Given the description of an element on the screen output the (x, y) to click on. 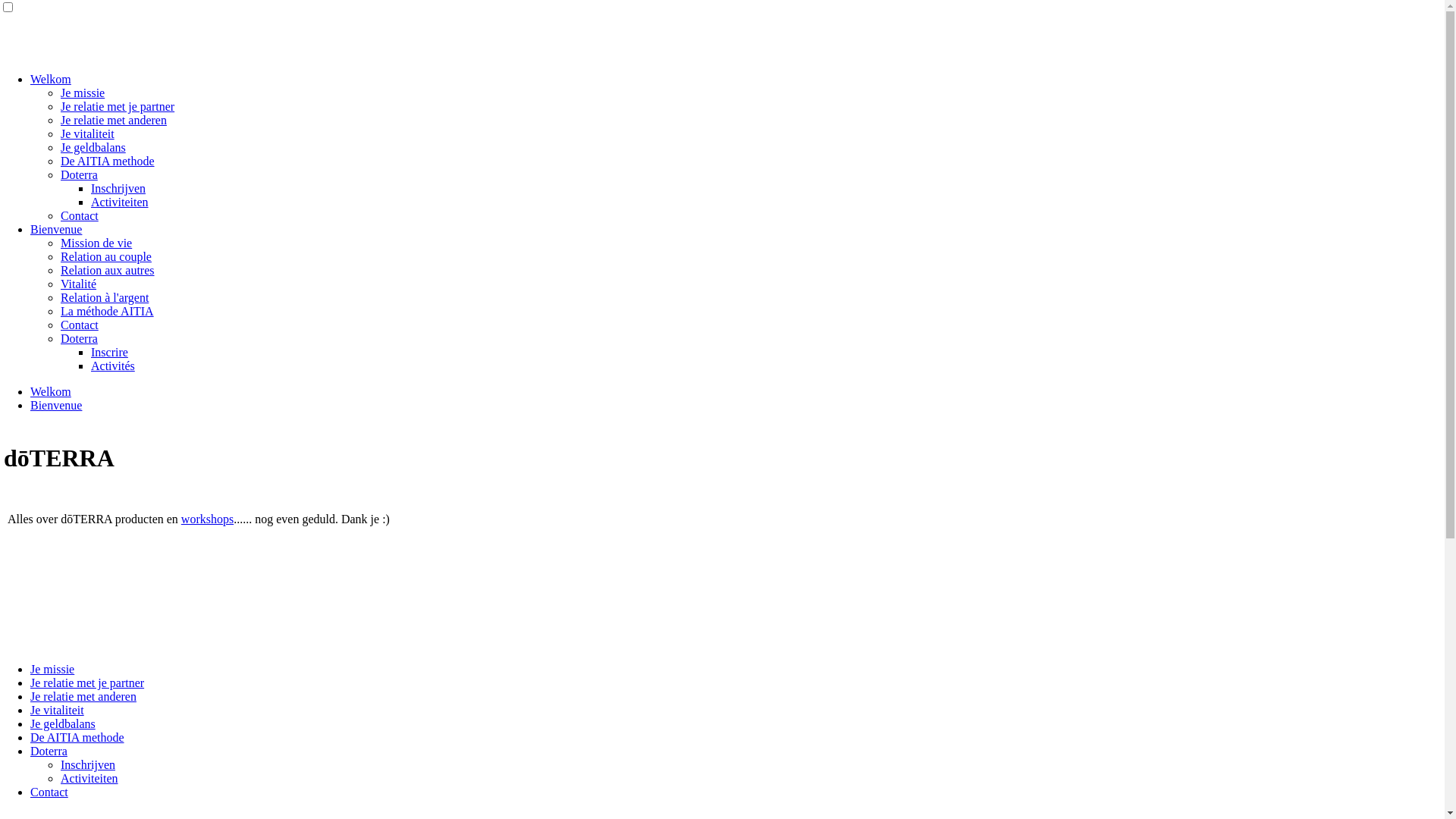
Welkom Element type: text (50, 391)
Je vitaliteit Element type: text (87, 133)
Je relatie met anderen Element type: text (83, 696)
Je missie Element type: text (52, 668)
Relation au couple Element type: text (105, 256)
Activiteiten Element type: text (89, 777)
Inschrijven Element type: text (118, 188)
Je geldbalans Element type: text (62, 723)
Je vitaliteit Element type: text (57, 709)
Je geldbalans Element type: text (92, 147)
Bienvenue Element type: text (55, 228)
Relation aux autres Element type: text (107, 269)
Je relatie met je partner Element type: text (117, 106)
Je missie Element type: text (82, 92)
Je relatie met anderen Element type: text (113, 119)
Doterra Element type: text (78, 174)
Mission de vie Element type: text (95, 242)
Contact Element type: text (49, 791)
De AITIA methode Element type: text (77, 737)
Bienvenue Element type: text (55, 404)
workshops Element type: text (207, 518)
Doterra Element type: text (48, 750)
Inschrijven Element type: text (87, 764)
Contact Element type: text (79, 324)
Contact Element type: text (79, 215)
Je relatie met je partner Element type: text (87, 682)
Inscrire Element type: text (109, 351)
Doterra Element type: text (78, 338)
Activiteiten Element type: text (119, 201)
Welkom Element type: text (50, 78)
De AITIA methode Element type: text (107, 160)
